Given the description of an element on the screen output the (x, y) to click on. 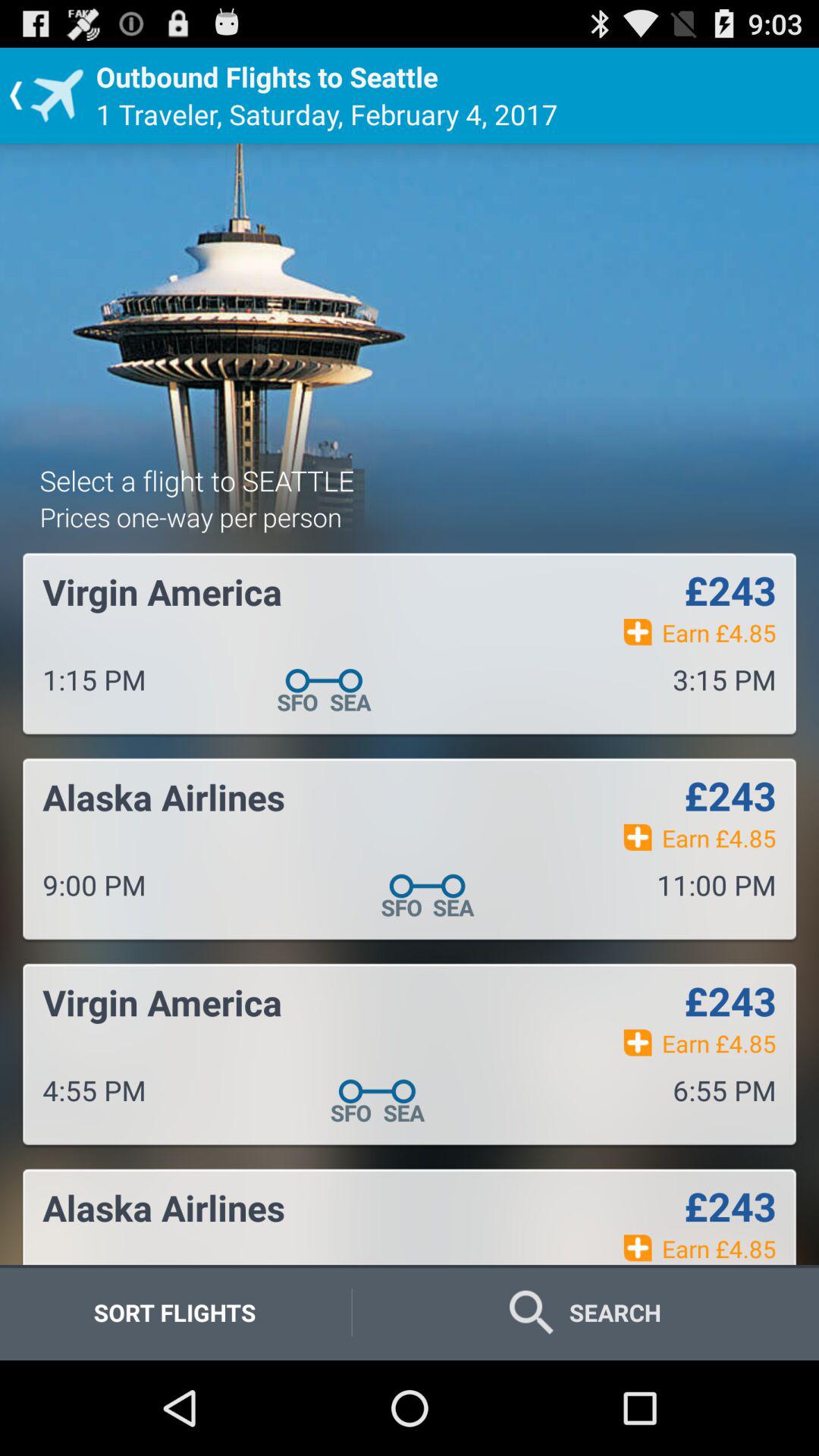
scroll to the select a flight (196, 480)
